Given the description of an element on the screen output the (x, y) to click on. 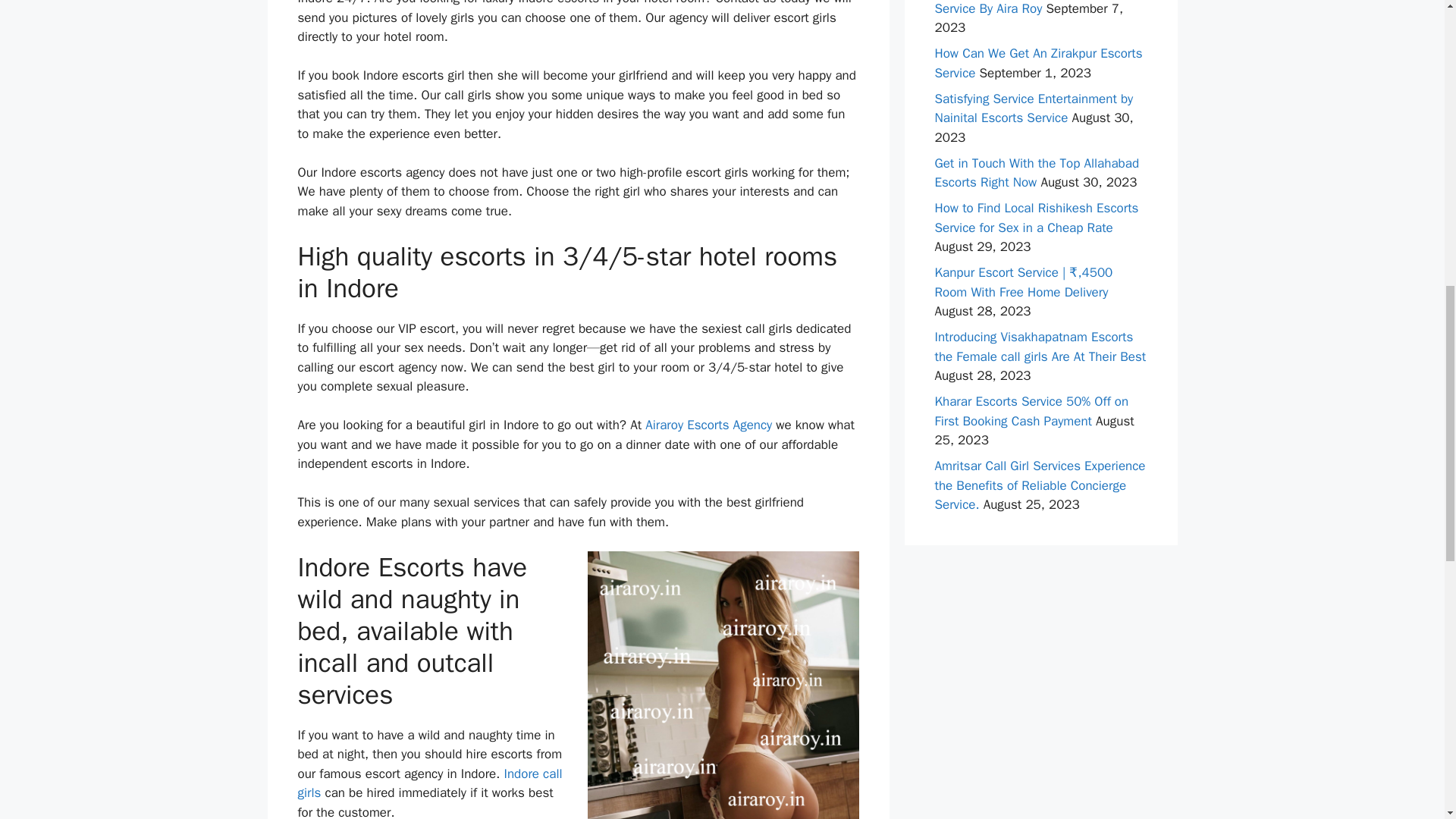
Airaroy Escorts Agency (708, 424)
Get in Touch With the Top Allahabad Escorts Right Now (1036, 172)
How Can We Get An Zirakpur Escorts Service (1037, 63)
Satisfying Service Entertainment by Nainital Escorts Service (1033, 108)
Welcome to Mount Abu Escorts Service By Aira Roy (1022, 8)
Indore call girls (429, 783)
